Given the description of an element on the screen output the (x, y) to click on. 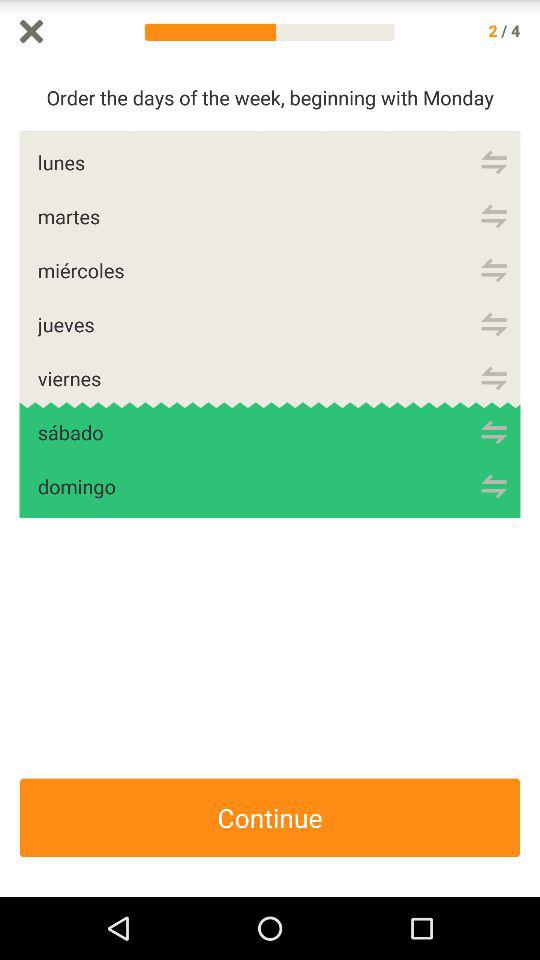
flip until continue icon (269, 817)
